Given the description of an element on the screen output the (x, y) to click on. 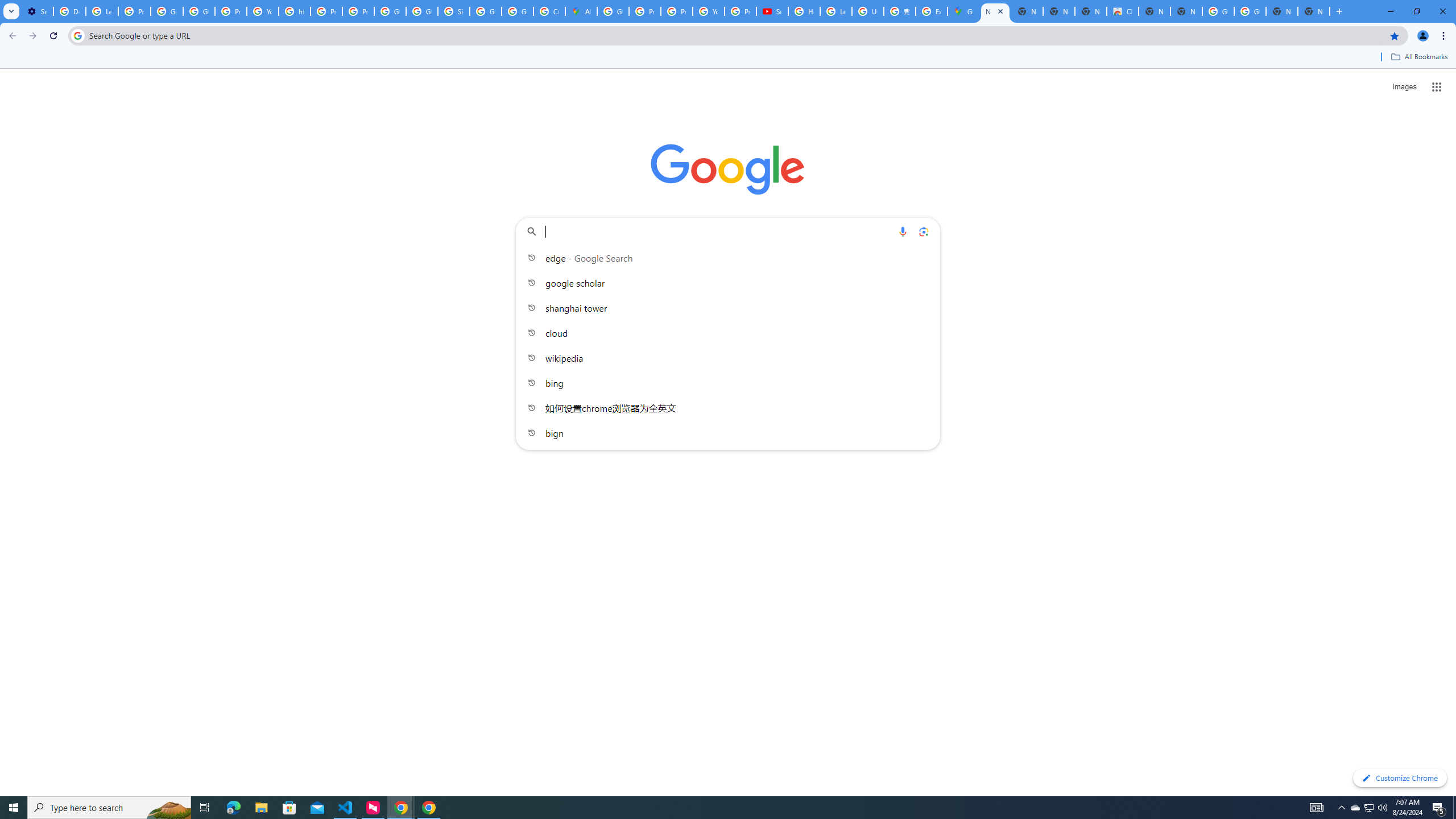
Search by voice (902, 230)
Search Google or type a URL (727, 230)
Search icon (77, 35)
Learn how to find your photos - Google Photos Help (101, 11)
Google Images (1217, 11)
Create your Google Account (549, 11)
Settings - Performance (37, 11)
